Given the description of an element on the screen output the (x, y) to click on. 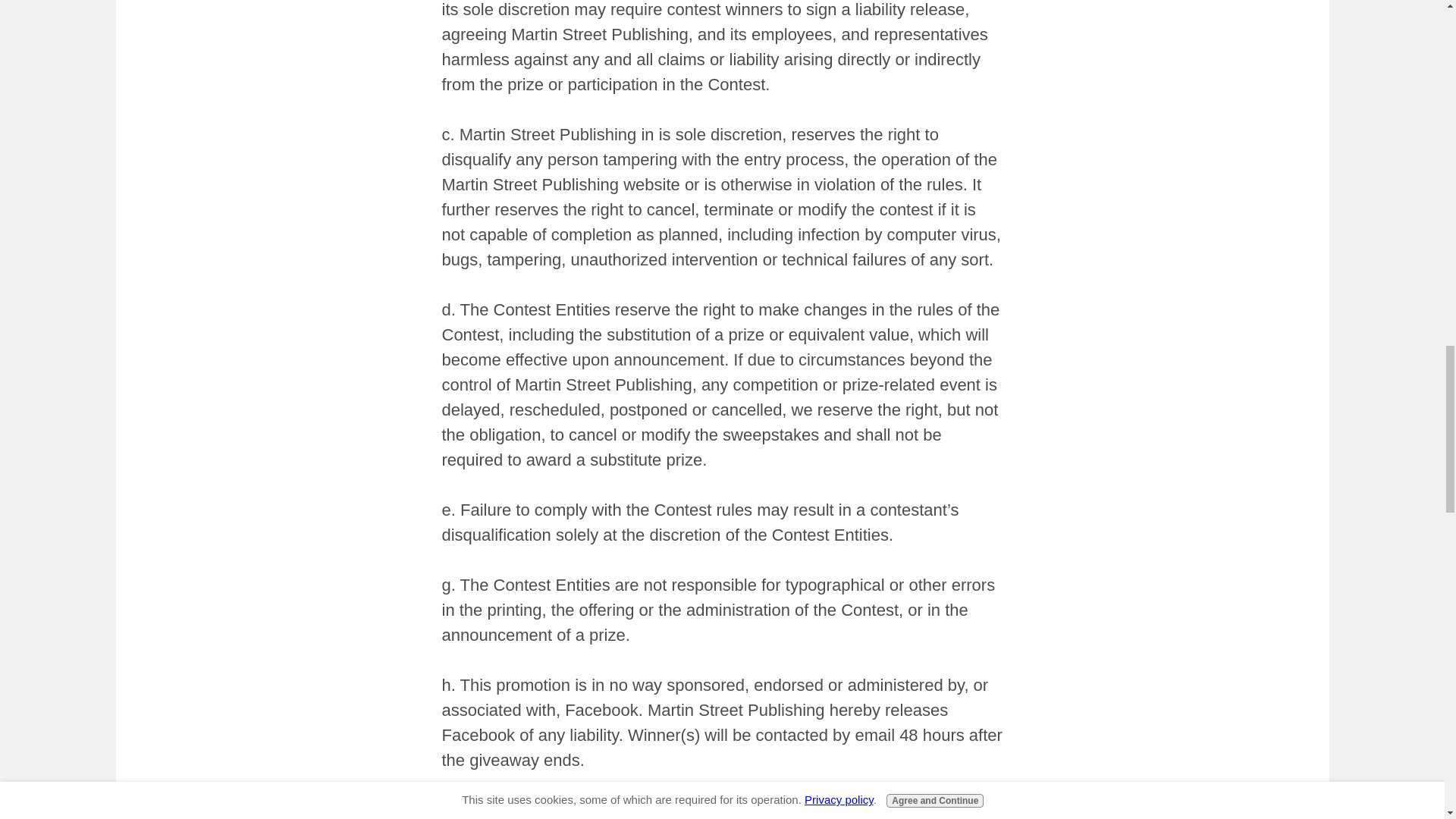
Contest Regulations (609, 809)
